Given the description of an element on the screen output the (x, y) to click on. 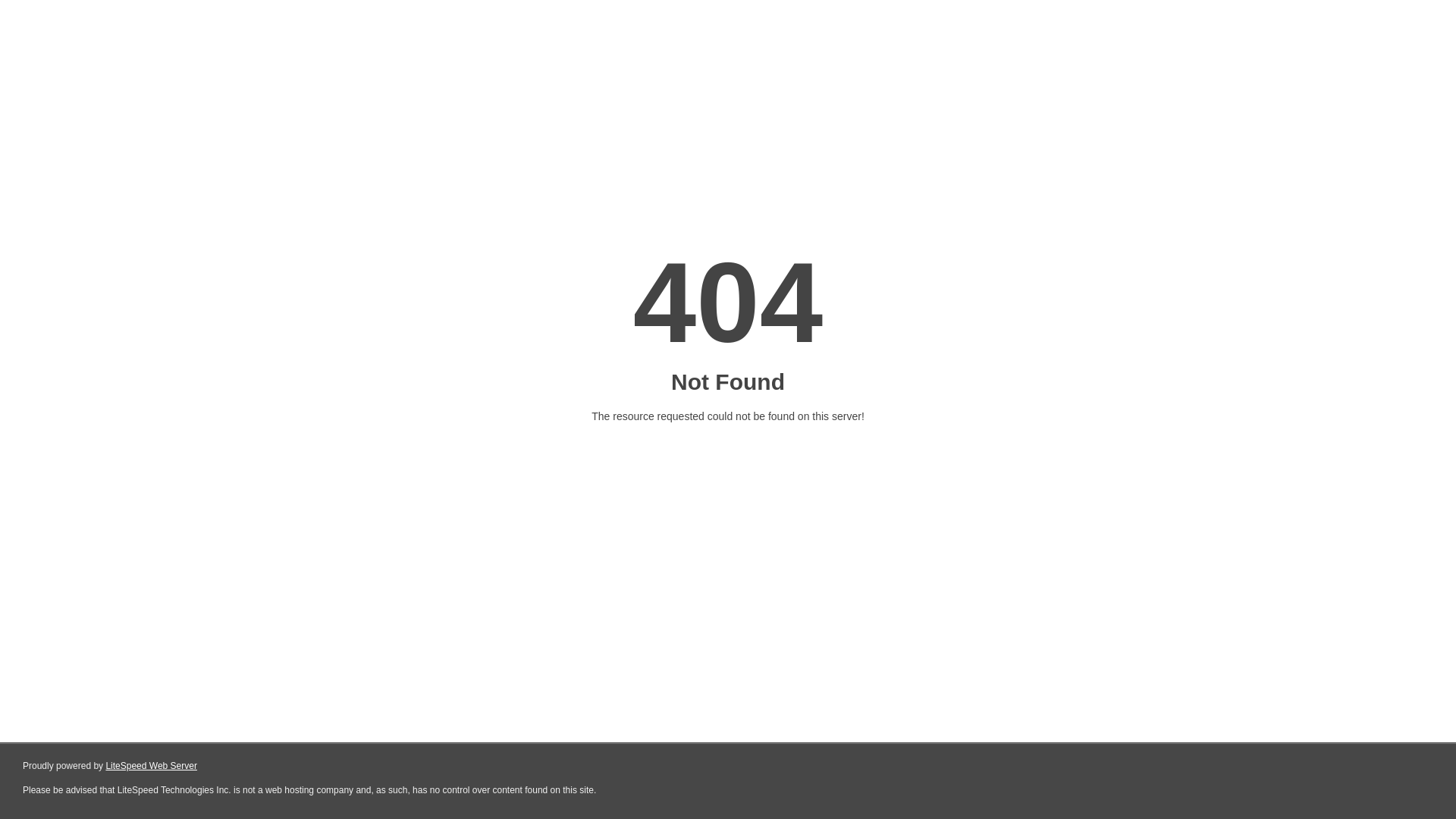
LiteSpeed Web Server Element type: text (151, 765)
